Given the description of an element on the screen output the (x, y) to click on. 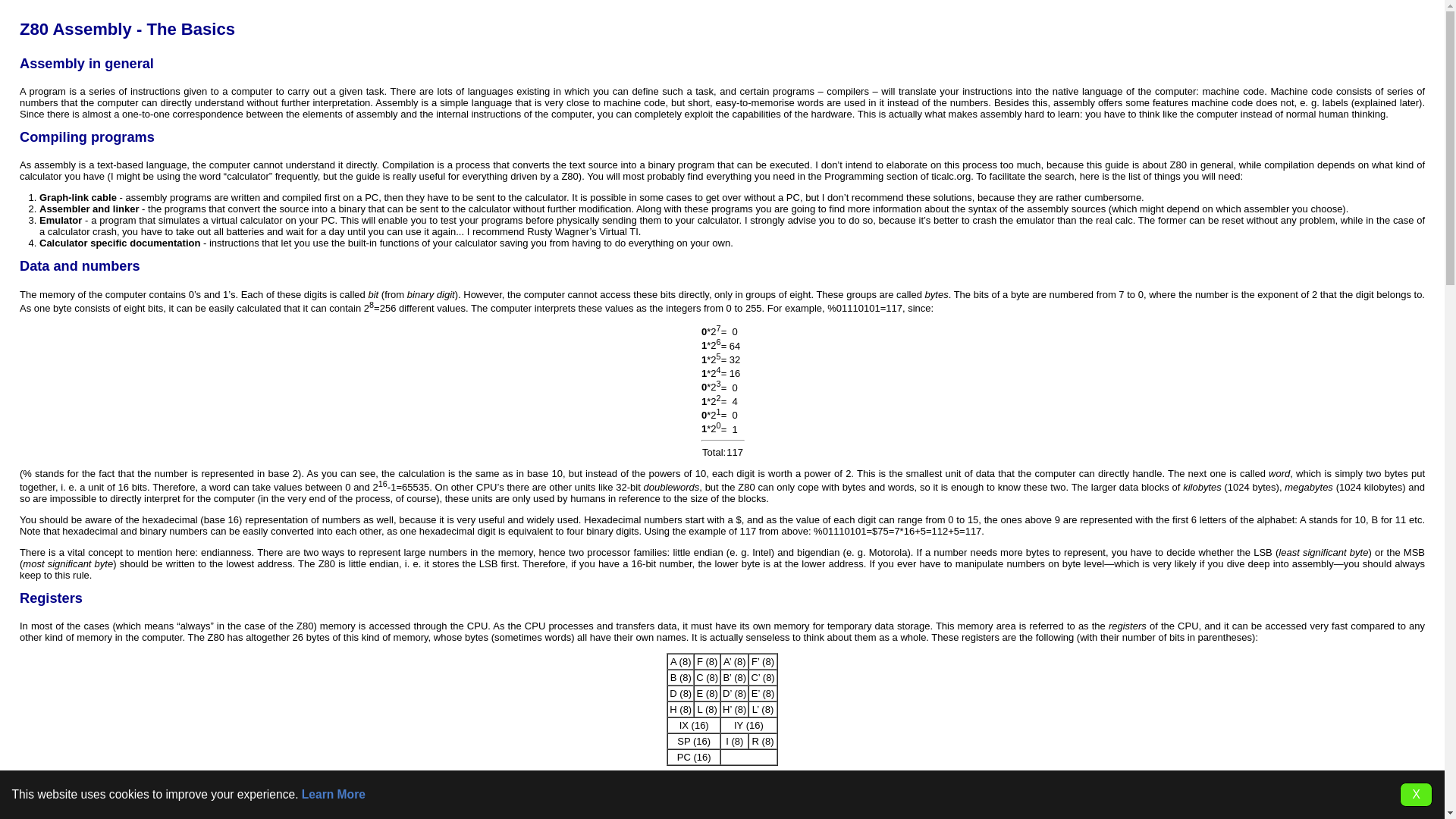
Learn More (333, 793)
Learn More (333, 793)
X (1415, 794)
